Given the description of an element on the screen output the (x, y) to click on. 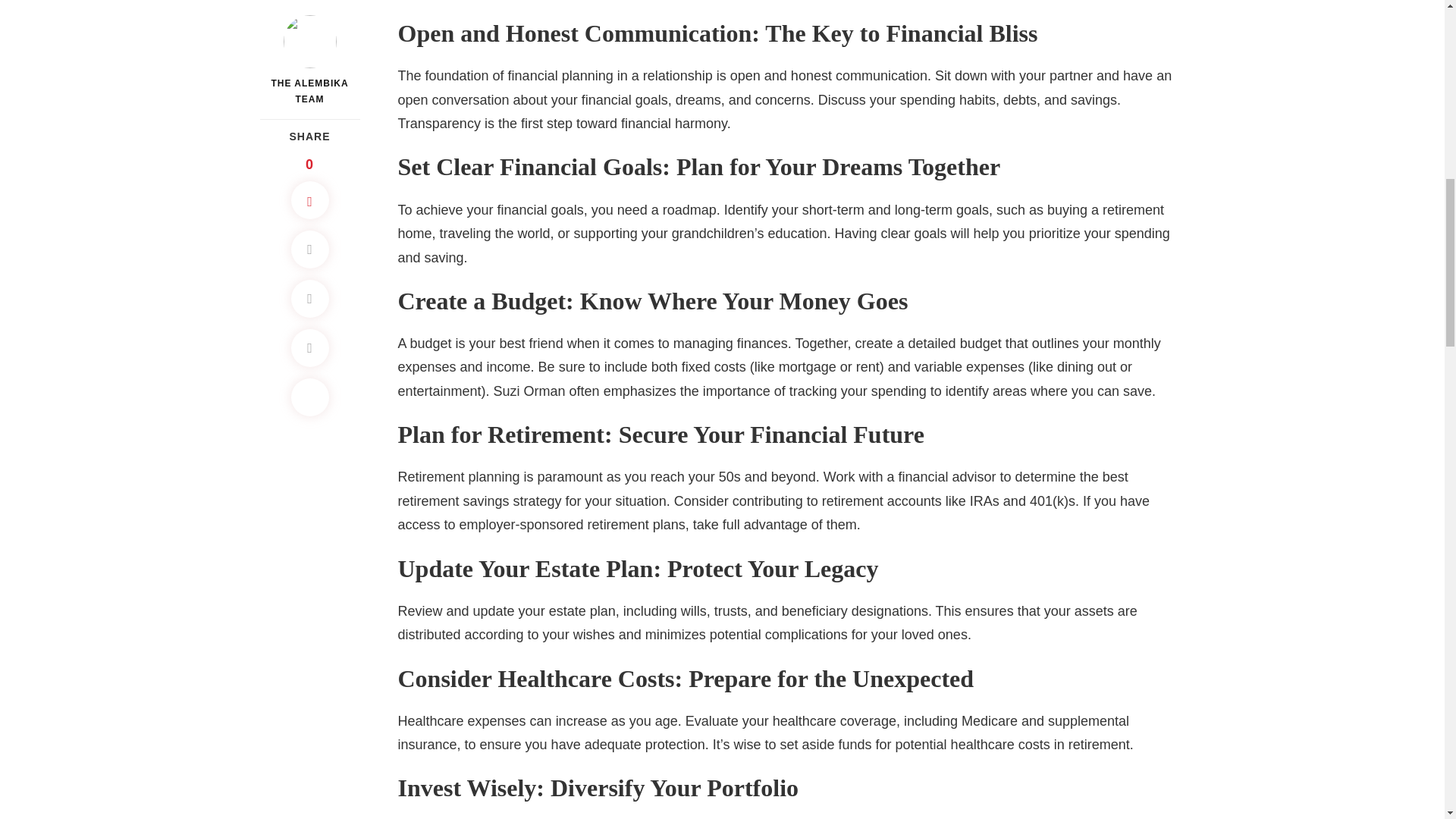
THE ALEMBIKA TEAM (309, 11)
